Given the description of an element on the screen output the (x, y) to click on. 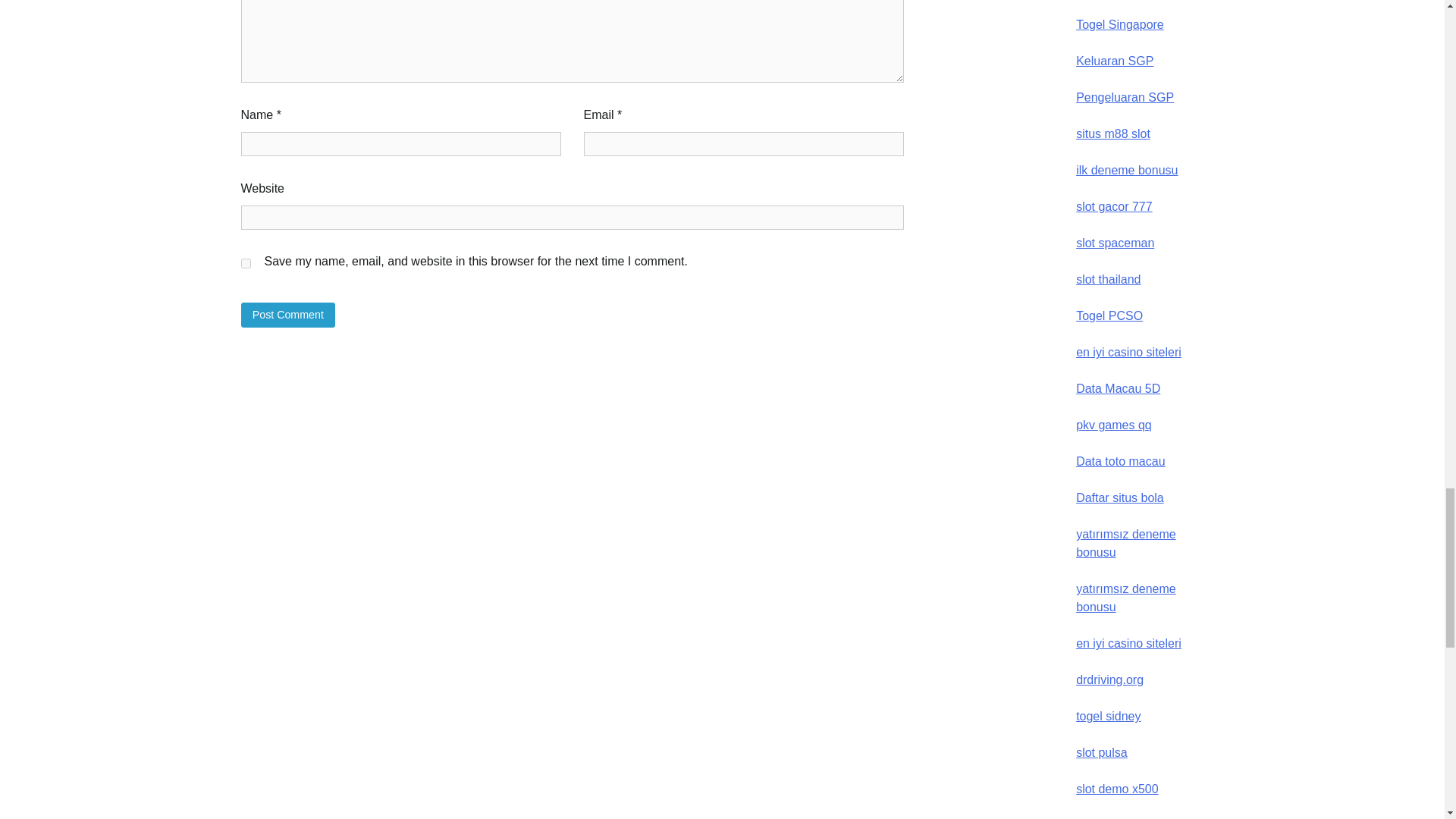
Post Comment (288, 314)
yes (245, 263)
Post Comment (288, 314)
